Given the description of an element on the screen output the (x, y) to click on. 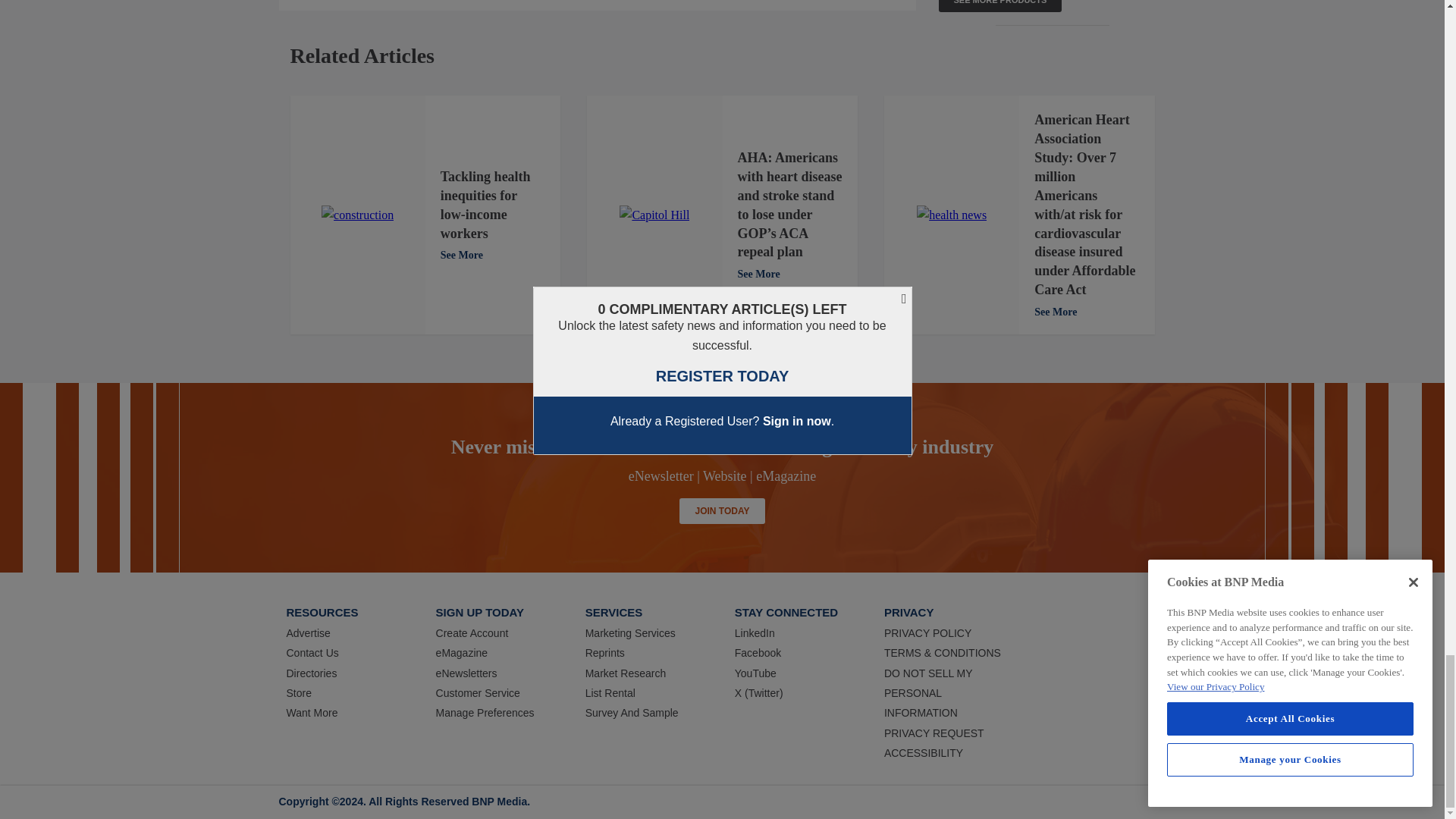
Congress (654, 215)
health news (952, 215)
construction7-422.jpg (357, 215)
